Given the description of an element on the screen output the (x, y) to click on. 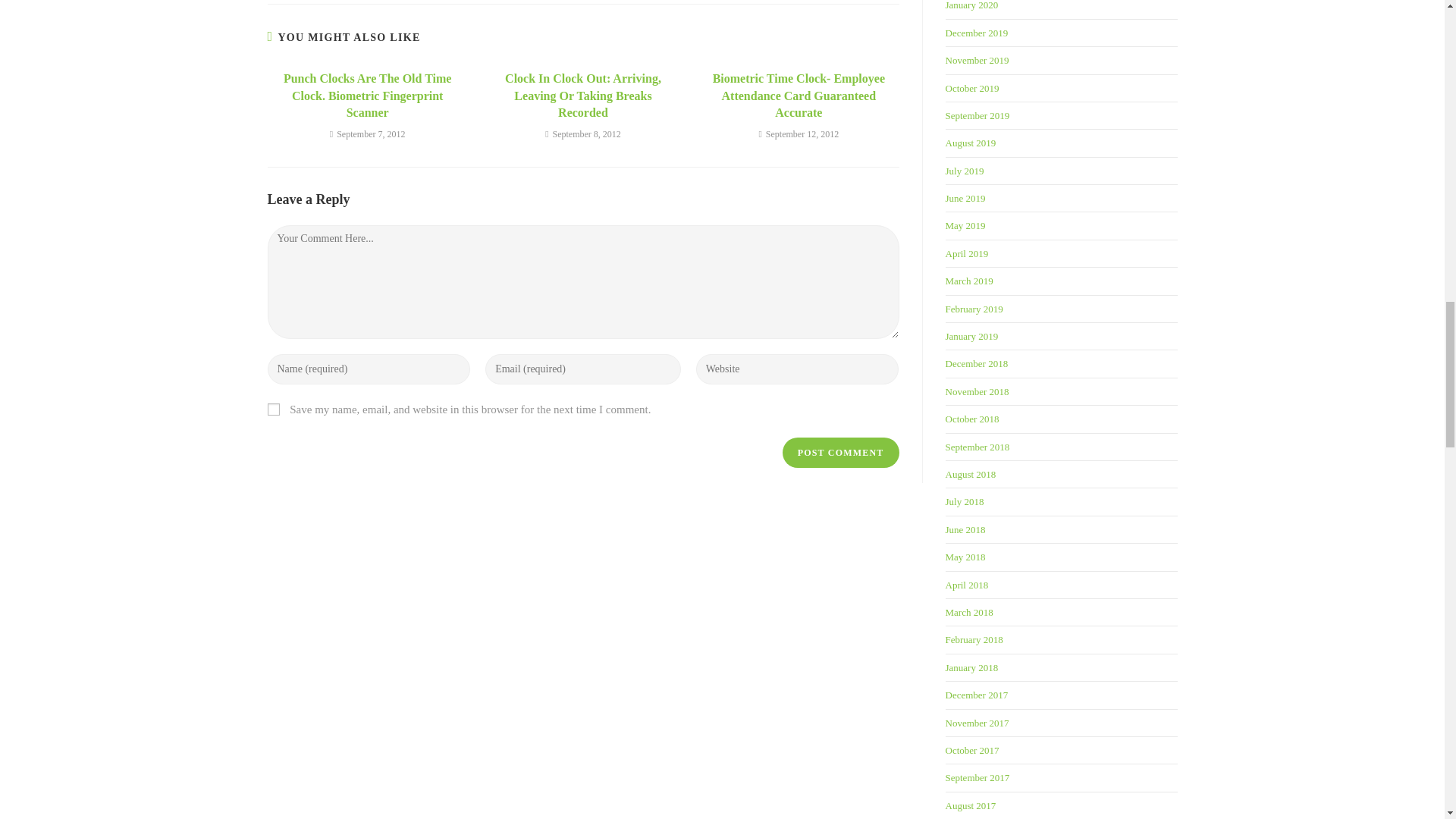
yes (272, 409)
Post Comment (841, 452)
